Given the description of an element on the screen output the (x, y) to click on. 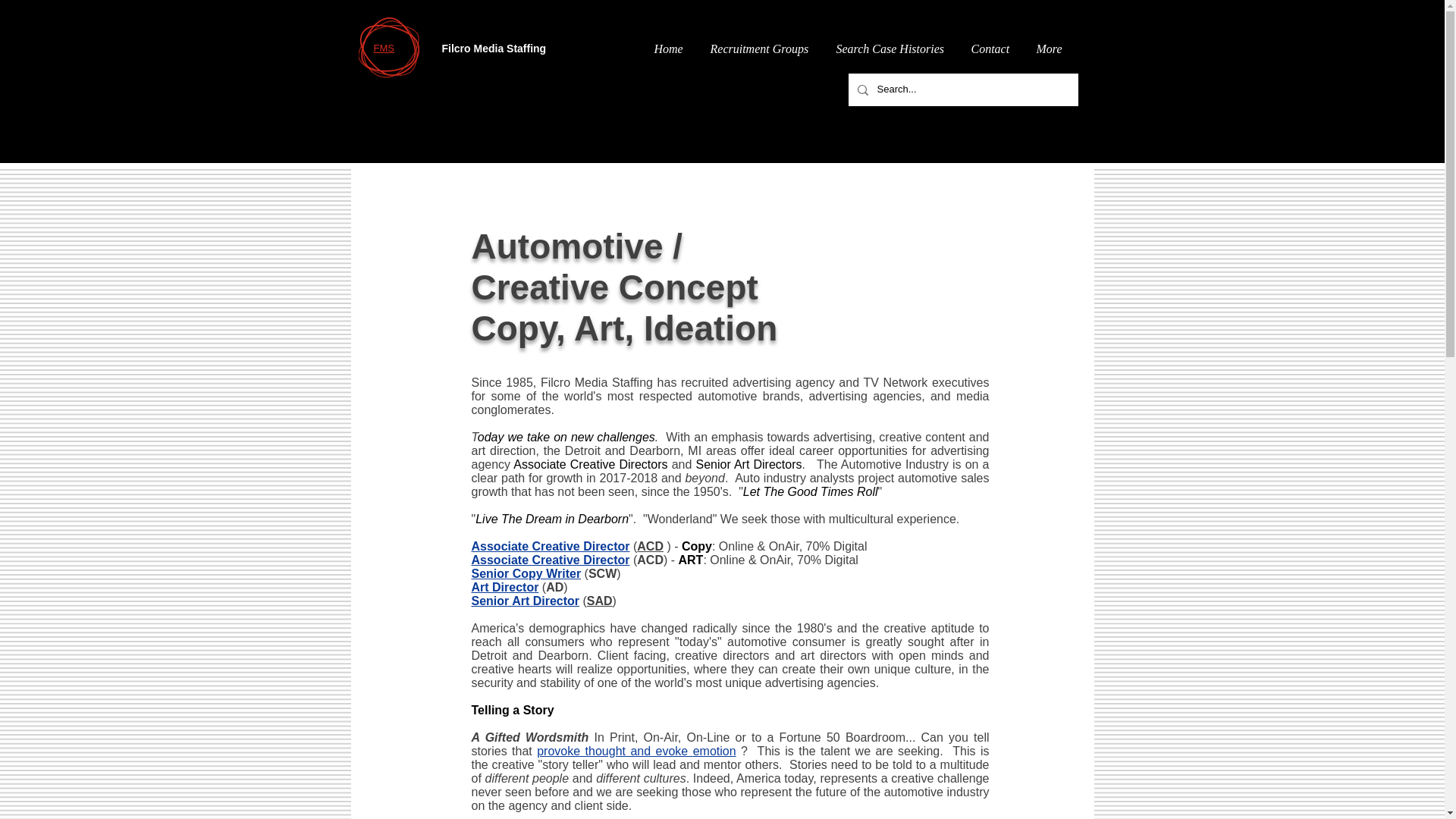
Contact (994, 48)
FMS (382, 48)
SAD (599, 600)
Senior Art Directors (748, 463)
Search Case Histories (895, 48)
Home (673, 48)
Associate Creative Director (550, 545)
Senior Art Director (525, 600)
Art Director (504, 586)
ACD (650, 545)
Recruitment Groups (764, 48)
Associate Creative Directors (589, 463)
provoke thought and evoke emotion (636, 750)
Senior Copy Writer (525, 573)
Filcro Media Staffing (388, 47)
